Given the description of an element on the screen output the (x, y) to click on. 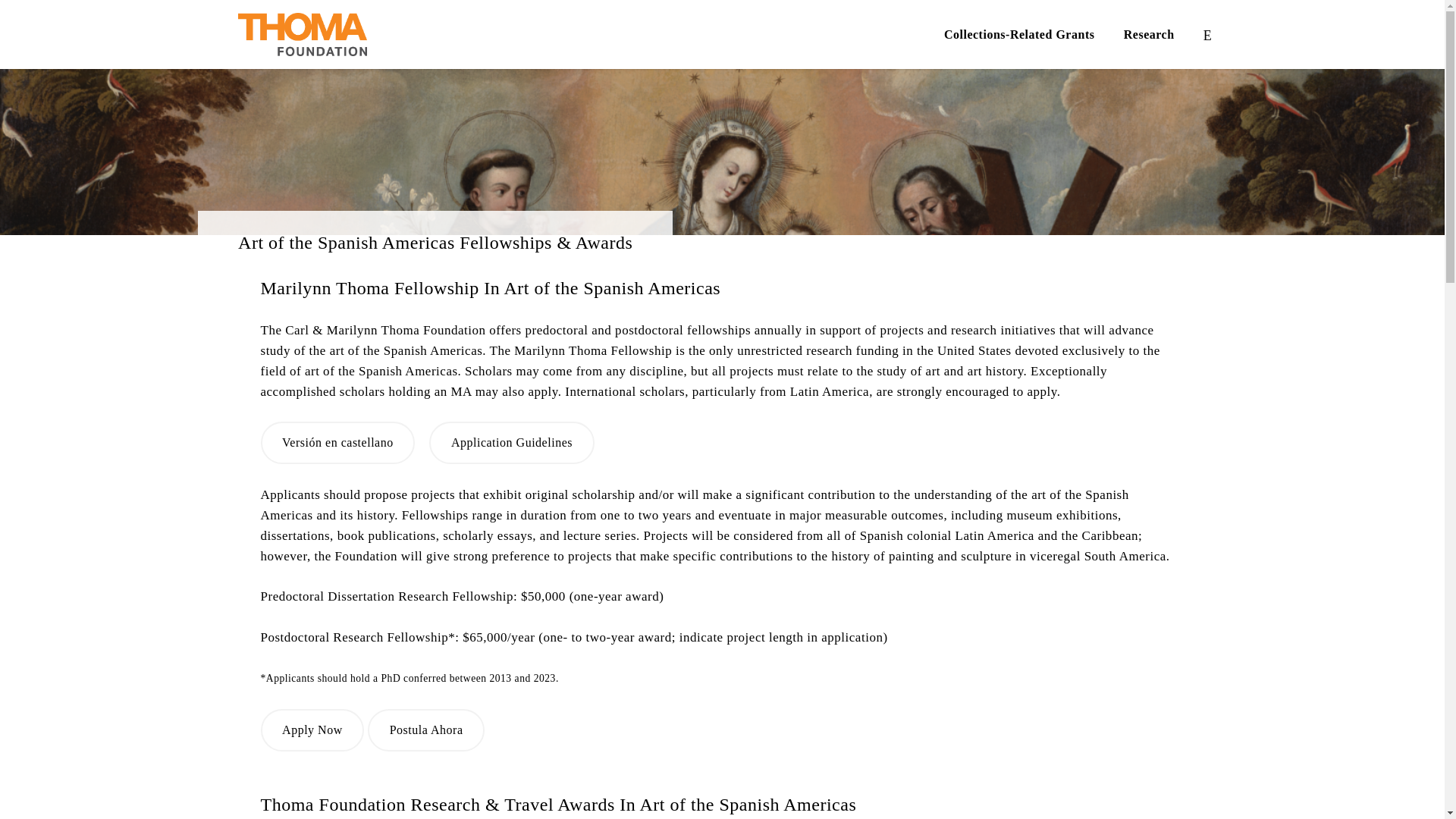
Postula Ahora (426, 730)
Collections-Related Grants (1018, 34)
Thoma Foundation Grants (302, 34)
Application Guidelines (511, 442)
Apply Now (312, 730)
Research (1149, 34)
